Given the description of an element on the screen output the (x, y) to click on. 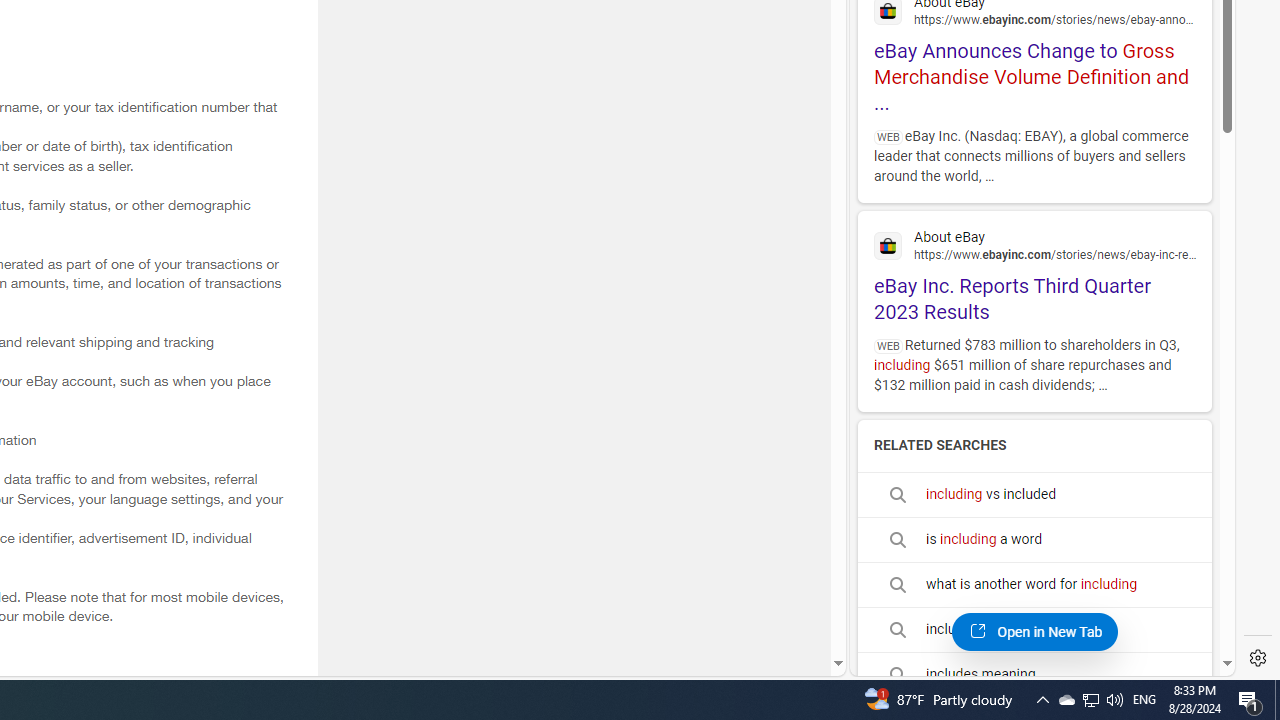
About eBay (1034, 244)
includes meaning (1034, 674)
what is another word for including (1034, 584)
what is another word for including (1034, 584)
including vs included (1034, 494)
is including a word (1034, 539)
including vs included (1034, 494)
eBay Inc. Reports Third Quarter 2023 Results (1034, 273)
is including a word (1034, 539)
Global web icon (888, 246)
includes synonym (1034, 629)
includes meaning (1034, 674)
includes synonym (1034, 629)
